Given the description of an element on the screen output the (x, y) to click on. 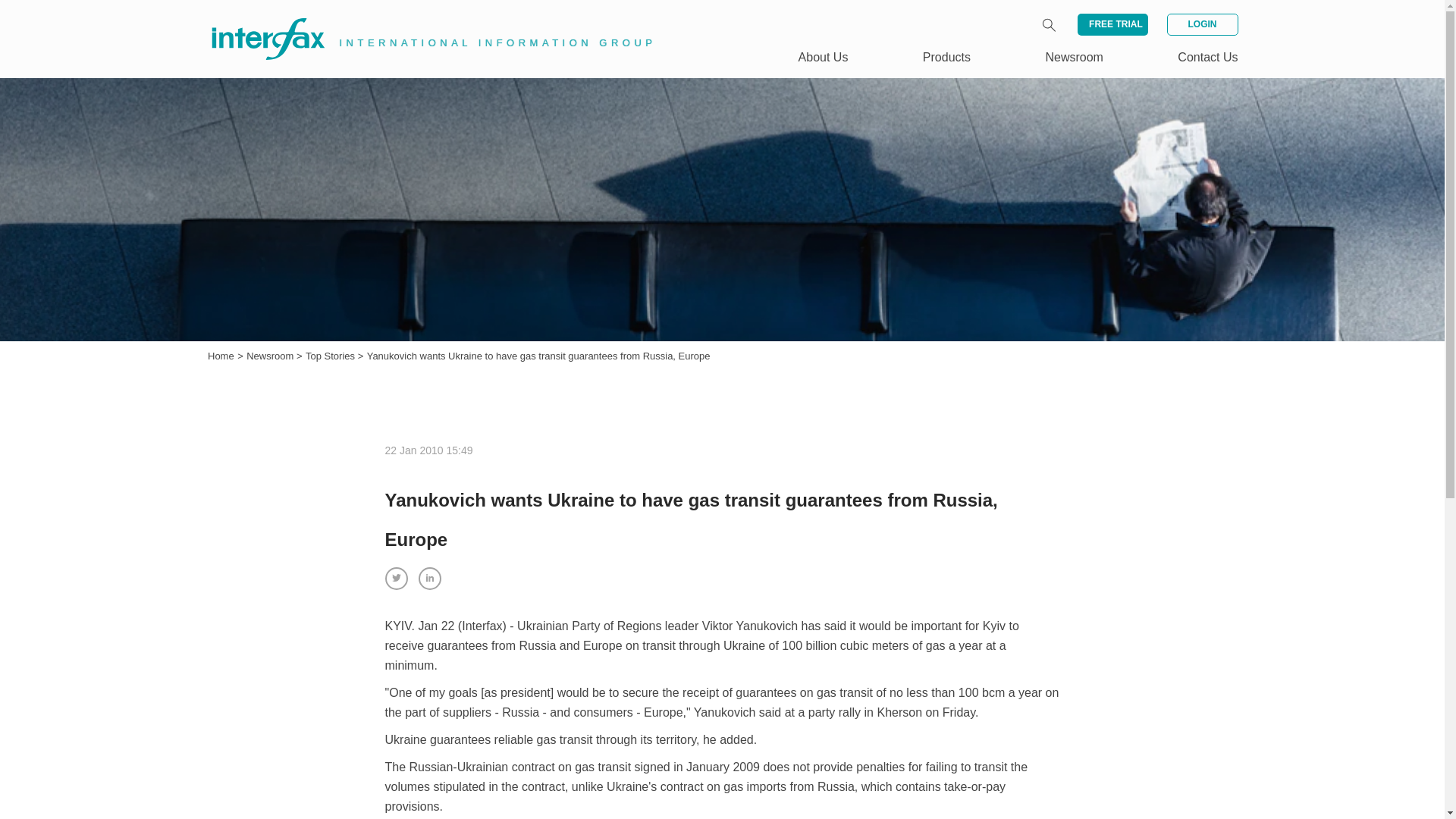
LOGIN (1201, 24)
Home (221, 355)
Contact Us (1207, 56)
Newsroom (1073, 56)
Products (947, 56)
Top Stories (331, 355)
Newsroom (271, 355)
FREE TRIAL (1112, 24)
Contact Us (1207, 56)
About Us (822, 56)
